Given the description of an element on the screen output the (x, y) to click on. 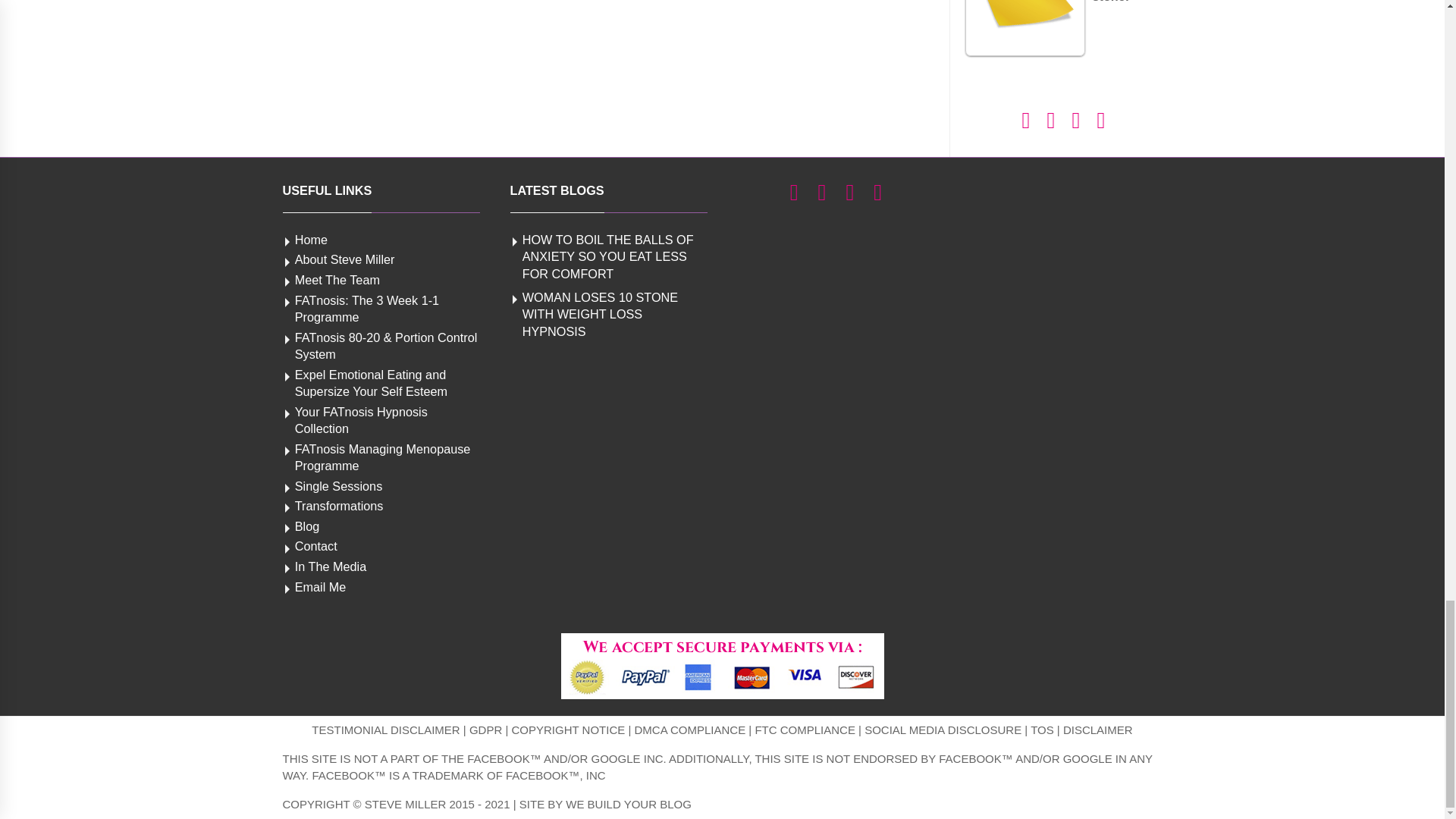
Fat Families Keri Turner loses 12 stone! (1023, 28)
Your FATnosis Hypnosis Collection (361, 419)
